Given the description of an element on the screen output the (x, y) to click on. 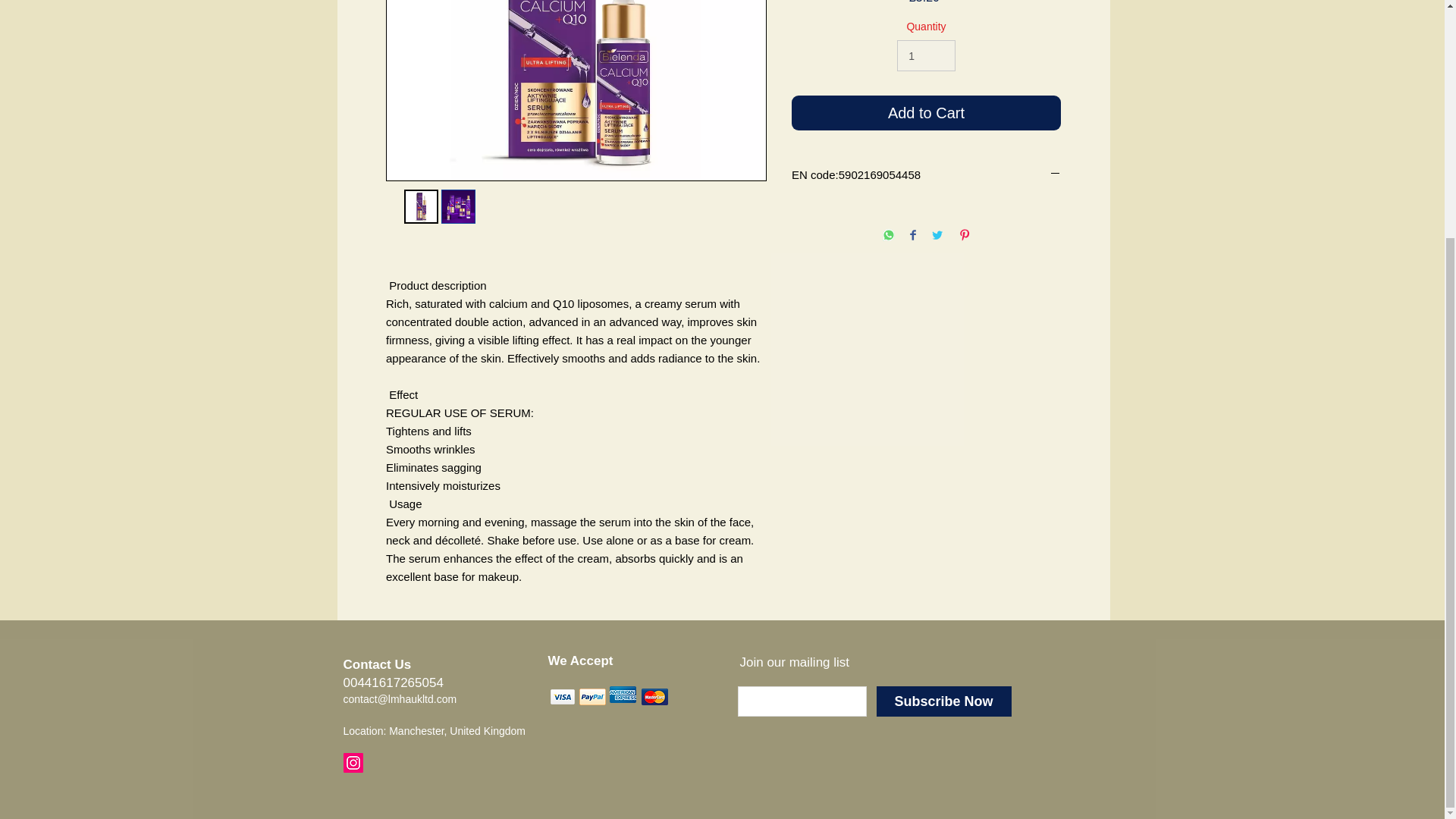
Add to Cart (926, 112)
1 (925, 55)
EN code:5902169054458 (926, 174)
Subscribe Now (943, 701)
